Given the description of an element on the screen output the (x, y) to click on. 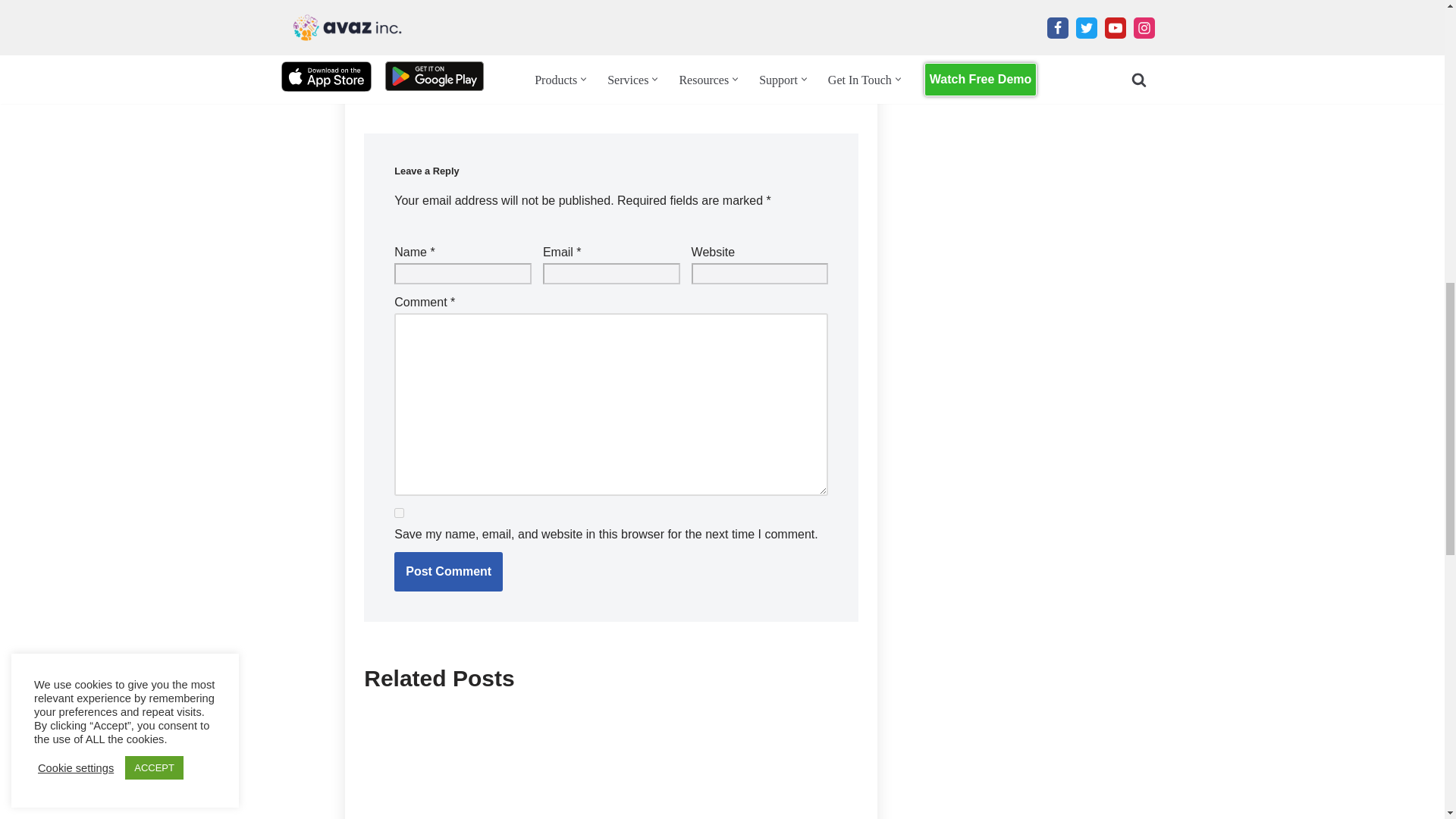
yes (399, 512)
Post Comment (448, 571)
